Given the description of an element on the screen output the (x, y) to click on. 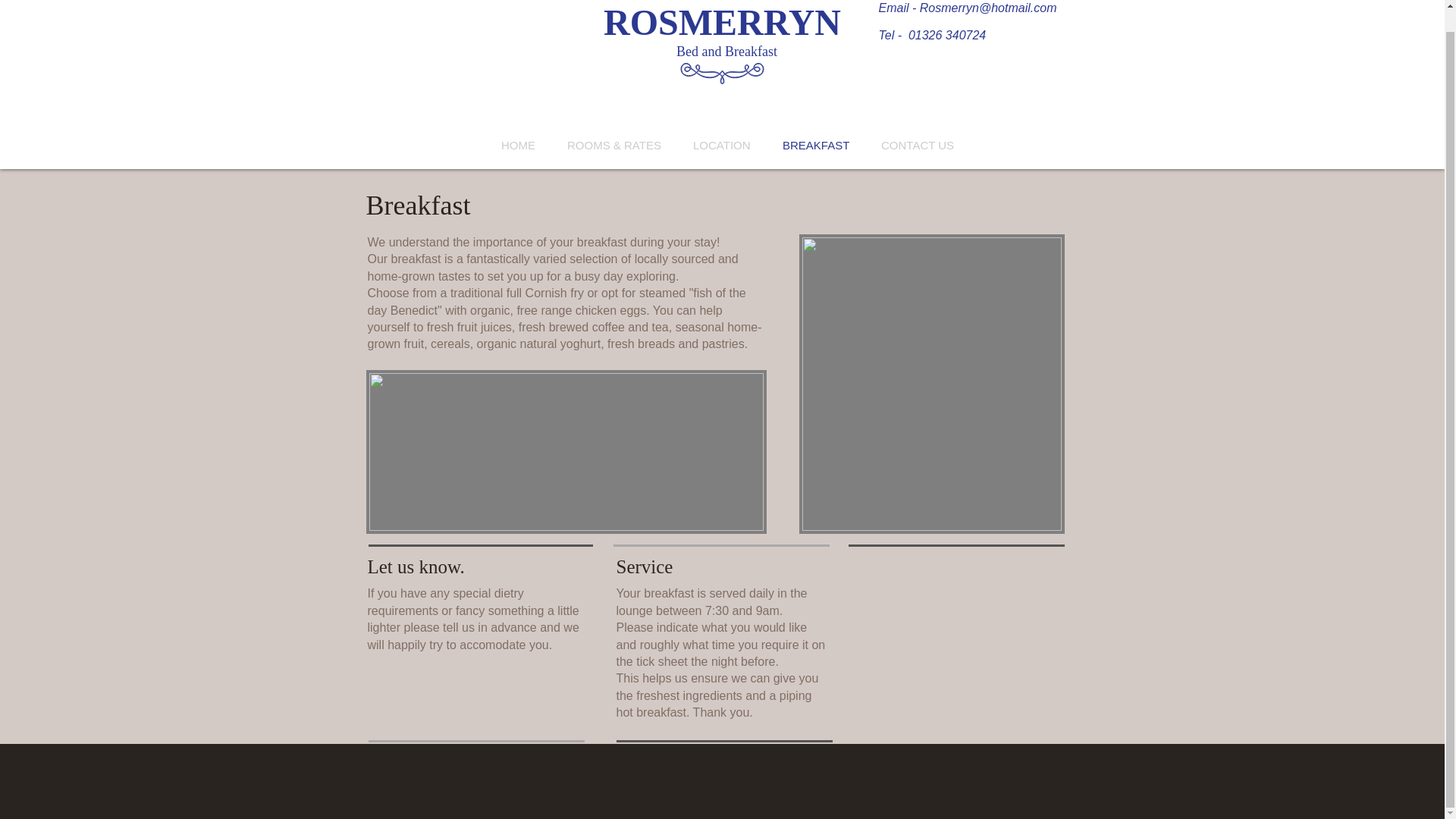
CONTACT US (916, 144)
LOCATION (722, 144)
BREAKFAST (815, 144)
HOME (517, 144)
